Given the description of an element on the screen output the (x, y) to click on. 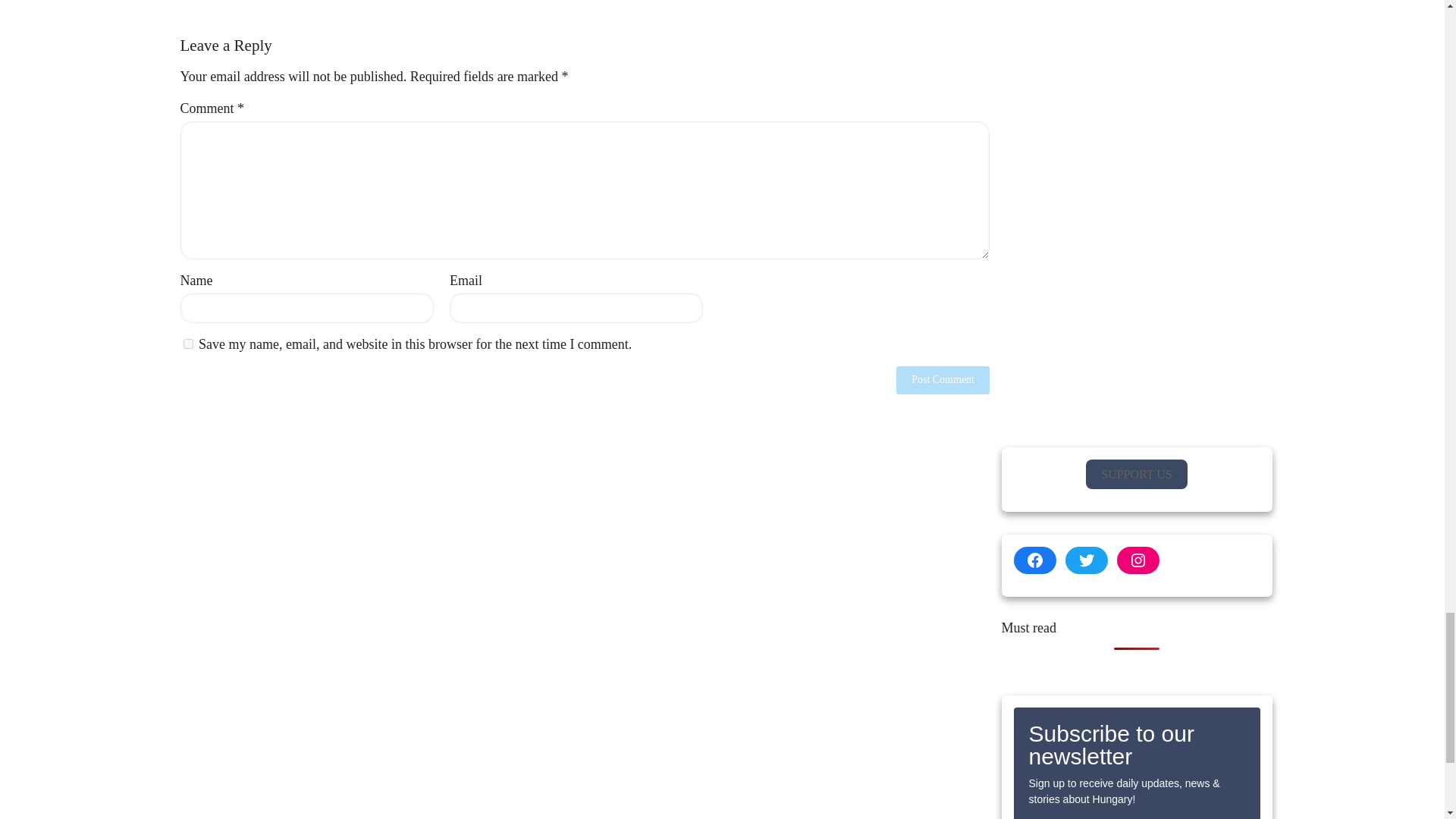
yes (188, 343)
Post Comment (943, 379)
